Given the description of an element on the screen output the (x, y) to click on. 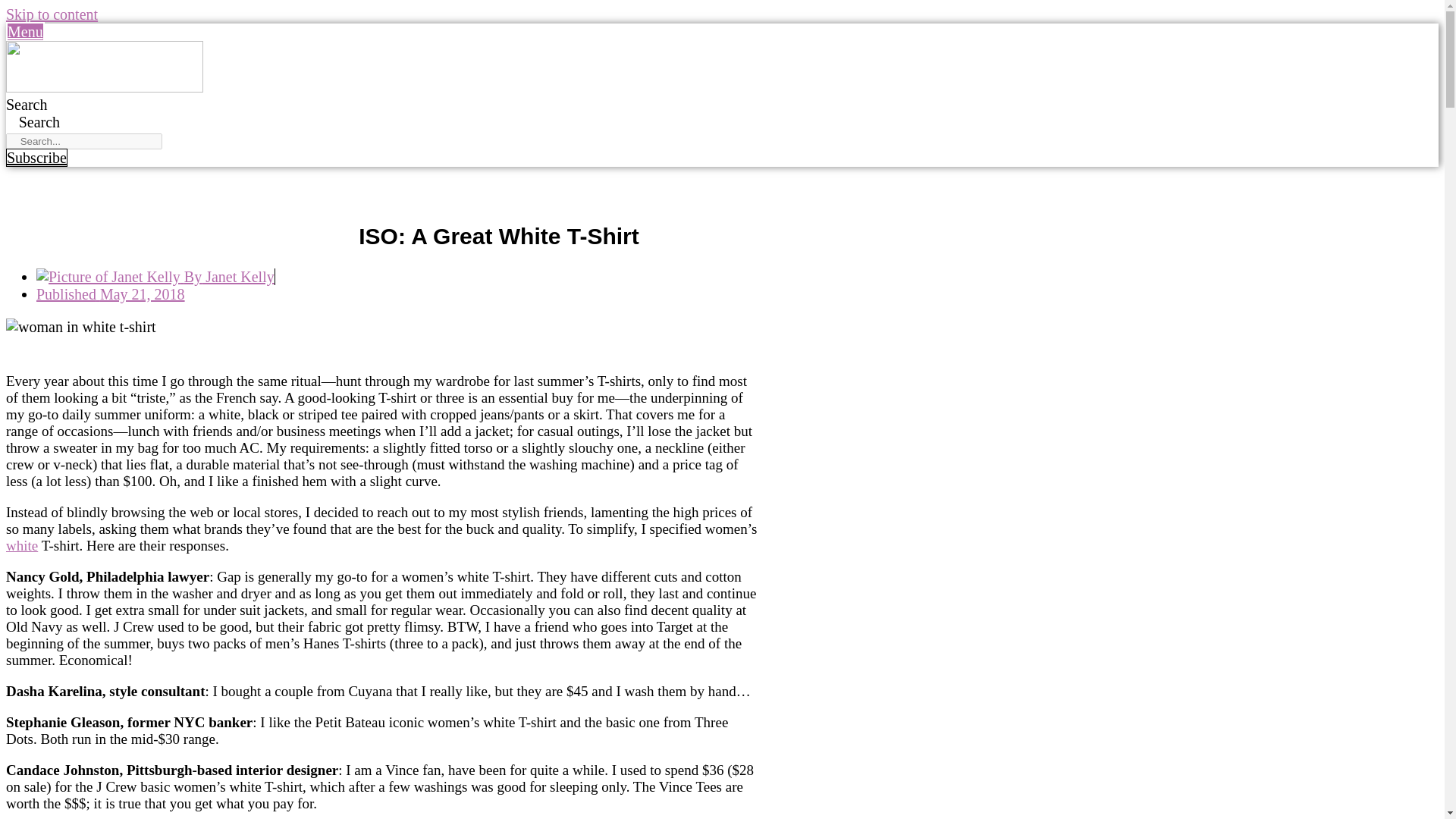
By Janet Kelly (155, 276)
Published May 21, 2018 (110, 293)
Skip to content (51, 13)
Subscribe (35, 157)
white (21, 545)
Menu (25, 31)
